Given the description of an element on the screen output the (x, y) to click on. 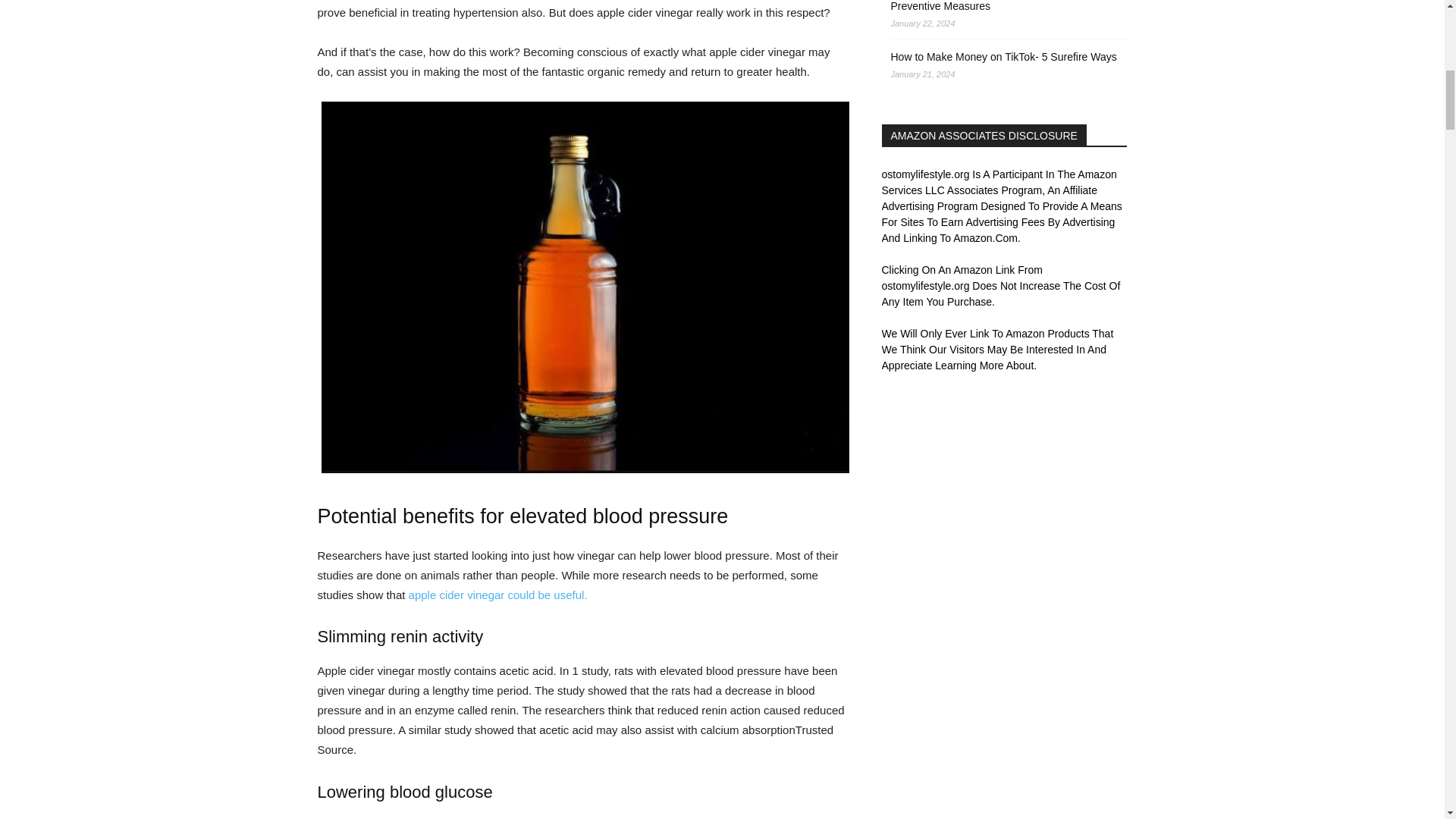
apple cider vinegar could be useful. (498, 594)
